Given the description of an element on the screen output the (x, y) to click on. 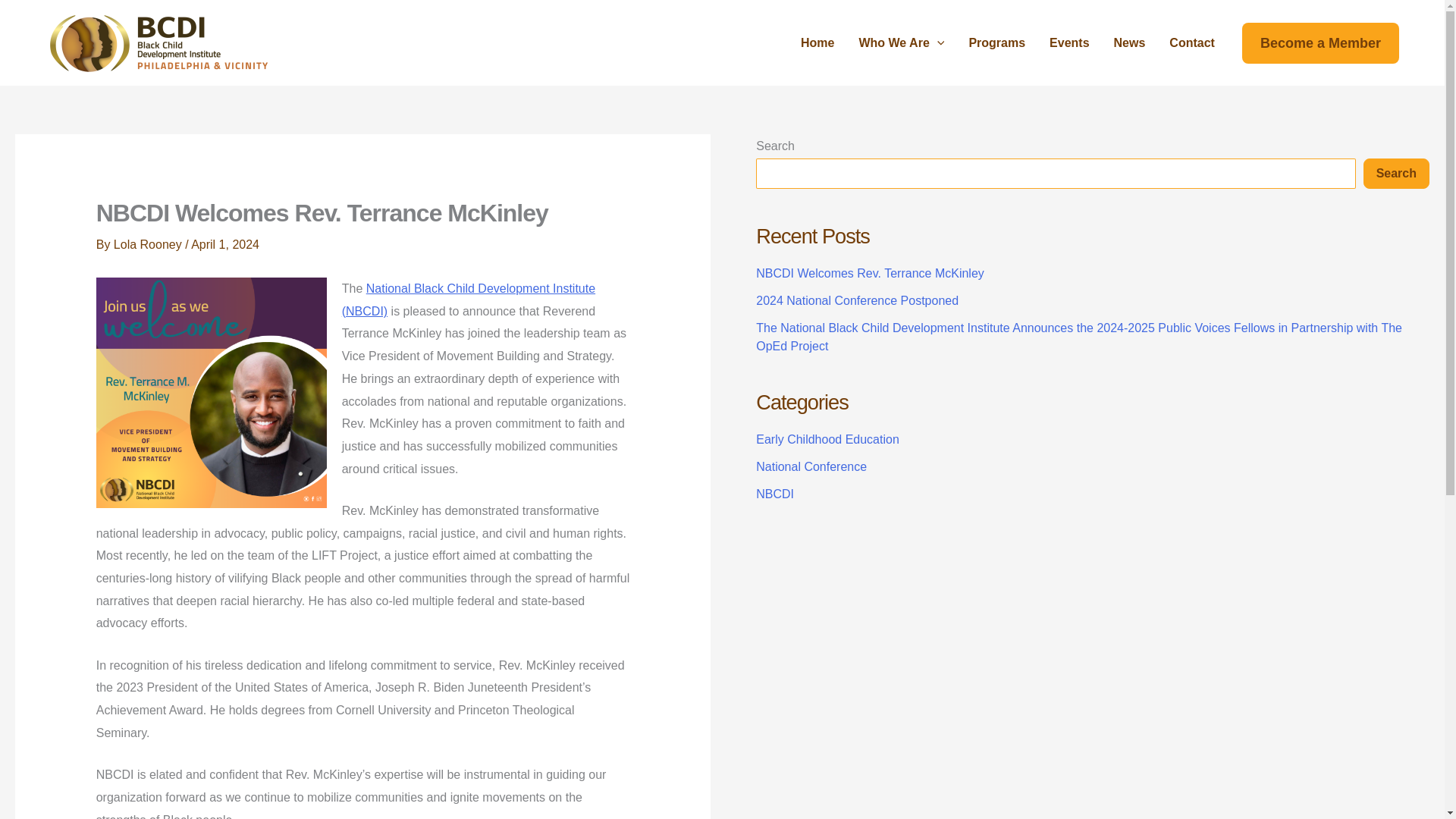
Become a Member (1320, 42)
Contact (1192, 42)
2024 National Conference Postponed (856, 300)
Programs (996, 42)
Search (1395, 173)
Who We Are (900, 42)
National Conference (810, 466)
Lola Rooney (148, 244)
View all posts by Lola Rooney (148, 244)
NBCDI (774, 493)
Early Childhood Education (827, 439)
NBCDI Welcomes Rev. Terrance McKinley (869, 273)
